Given the description of an element on the screen output the (x, y) to click on. 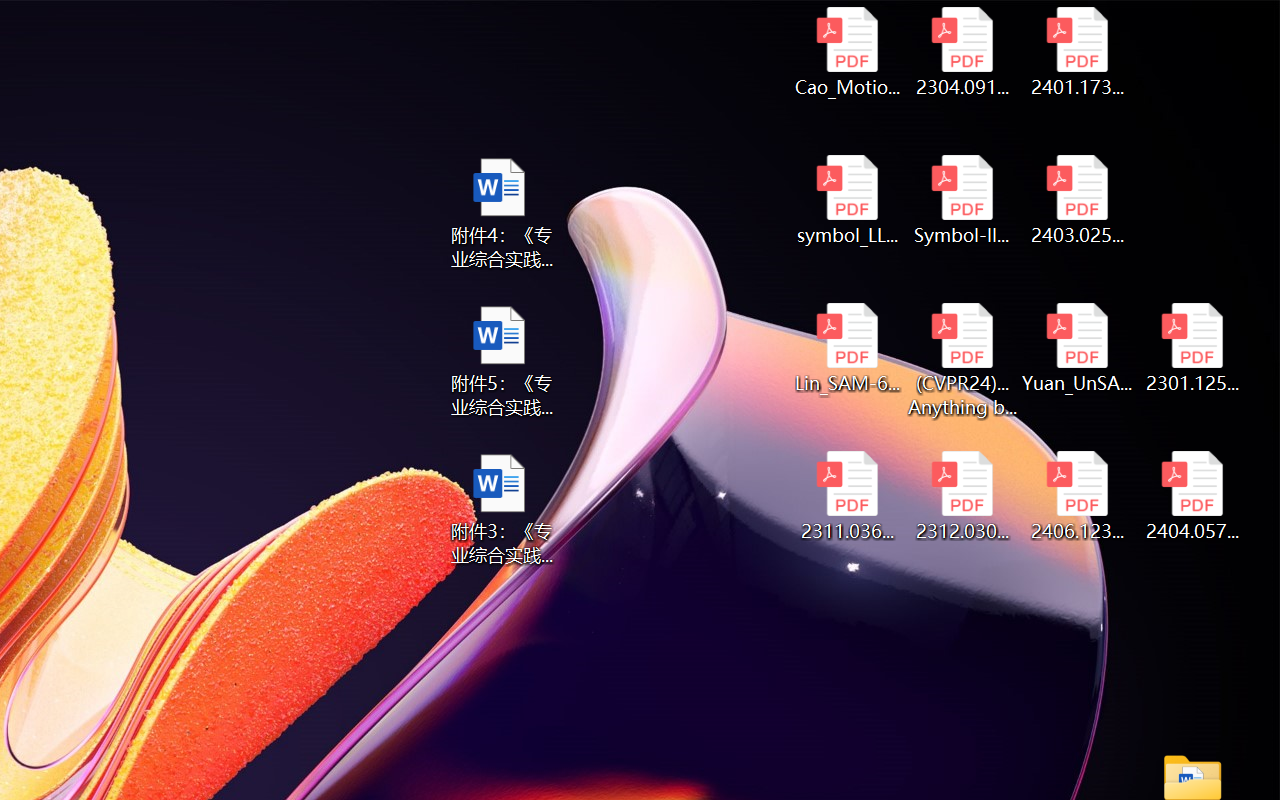
2304.09121v3.pdf (962, 52)
